Given the description of an element on the screen output the (x, y) to click on. 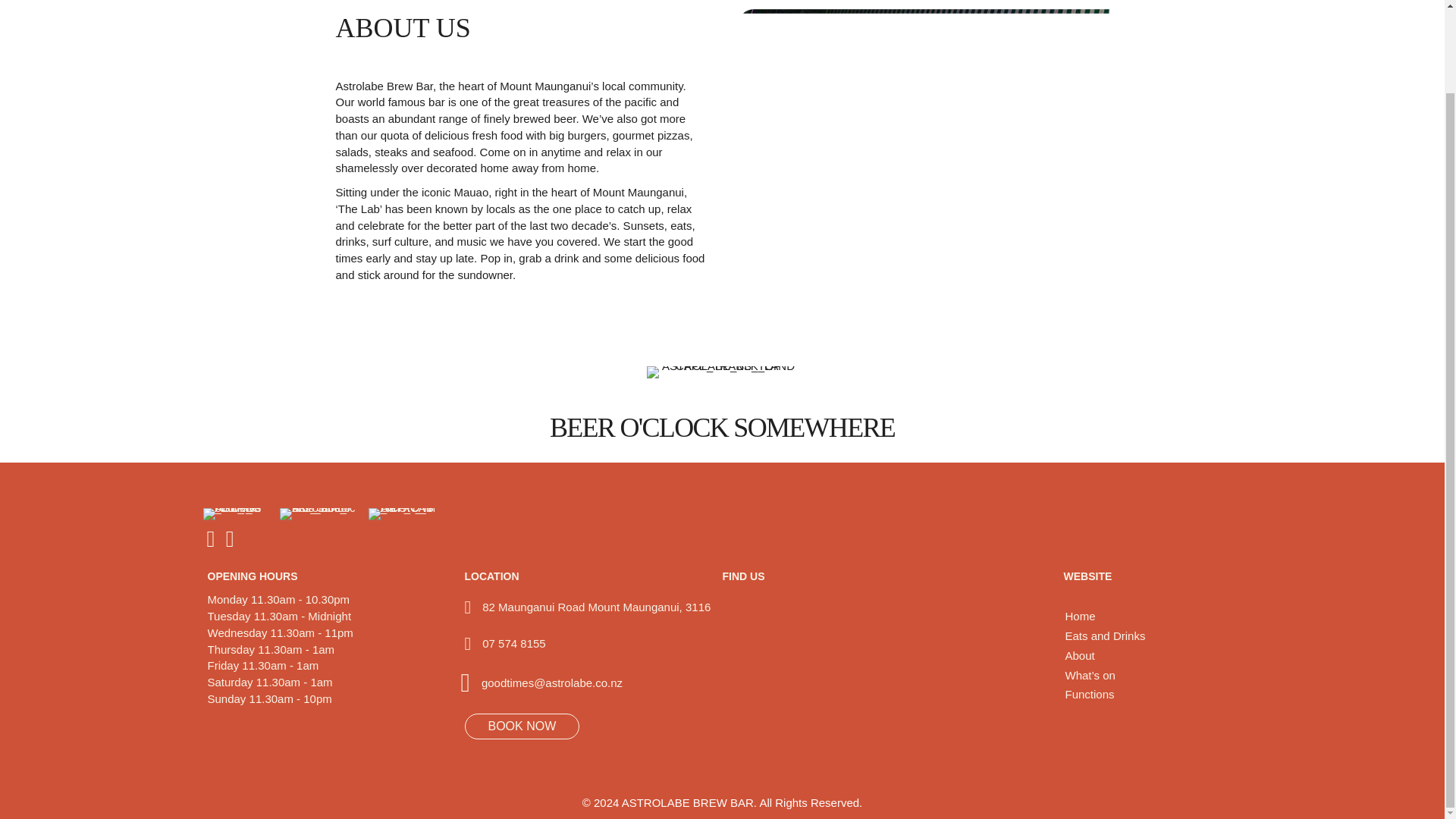
Page 1 (520, 180)
Page 1 (512, 643)
Page 1 (552, 682)
